Given the description of an element on the screen output the (x, y) to click on. 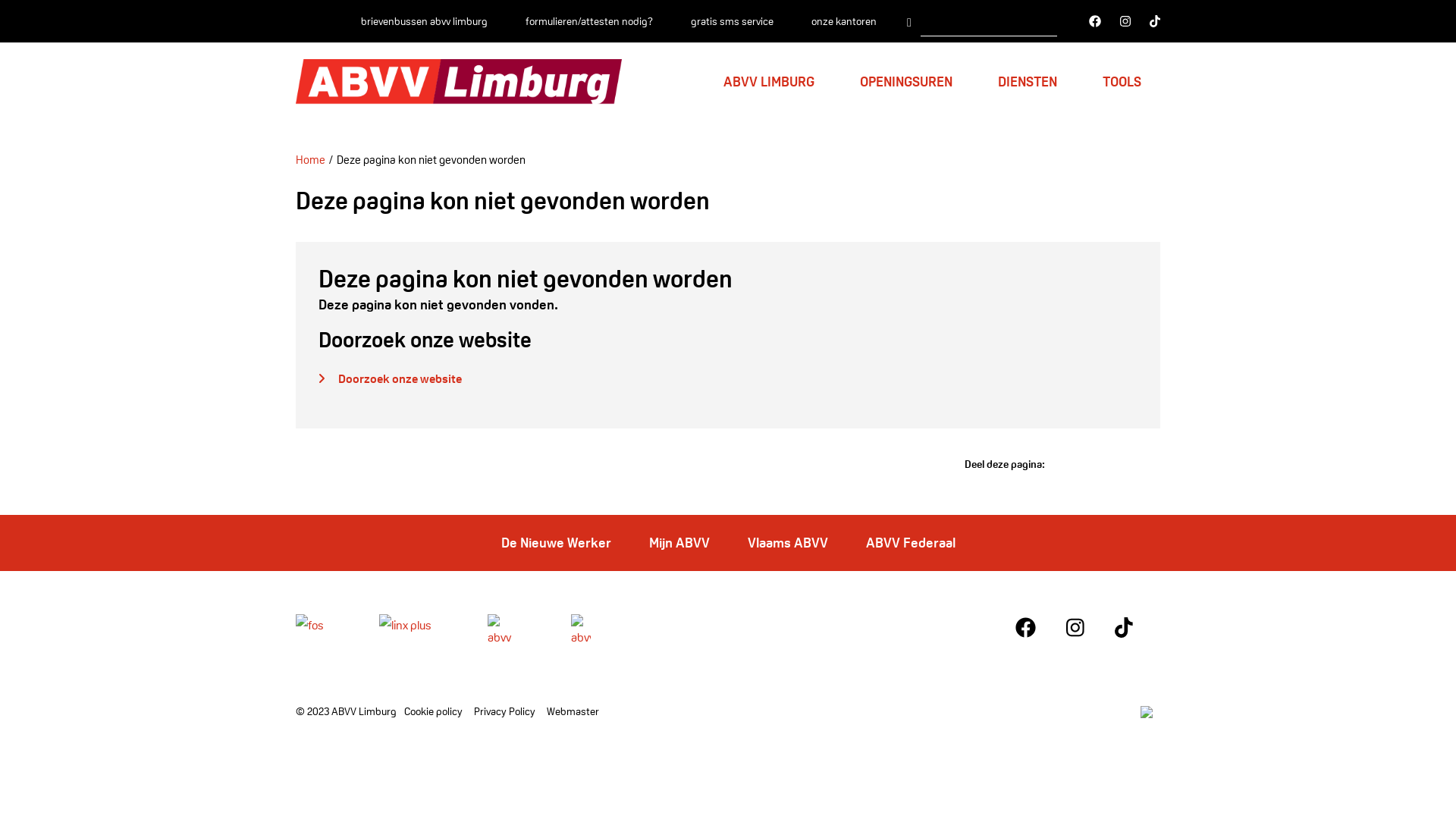
Home Element type: text (310, 159)
Vlaams ABVV Element type: text (787, 542)
Share to Twitter Element type: hover (1087, 463)
ABVV LIMBURG Element type: text (768, 81)
Privacy Policy Element type: text (504, 711)
Cookie policy Element type: text (433, 711)
Doorzoek onze website Element type: text (389, 378)
Share to Facebook Element type: hover (1059, 463)
TOOLS Element type: text (1121, 81)
OPENINGSUREN Element type: text (905, 81)
De Nieuwe Werker Element type: text (555, 542)
Webmaster Element type: text (572, 711)
ABVV Federaal Element type: text (910, 542)
formulieren/attesten nodig? Element type: text (589, 21)
Apply Element type: text (908, 20)
gratis sms service Element type: text (731, 21)
Share to Linkedin Element type: hover (1145, 463)
Share to WhatsApp Element type: hover (1116, 463)
Overslaan en naar de inhoud gaan Element type: text (0, 0)
Mijn ABVV Element type: text (679, 542)
brievenbussen abvv limburg Element type: text (423, 21)
onze kantoren Element type: text (843, 21)
